Given the description of an element on the screen output the (x, y) to click on. 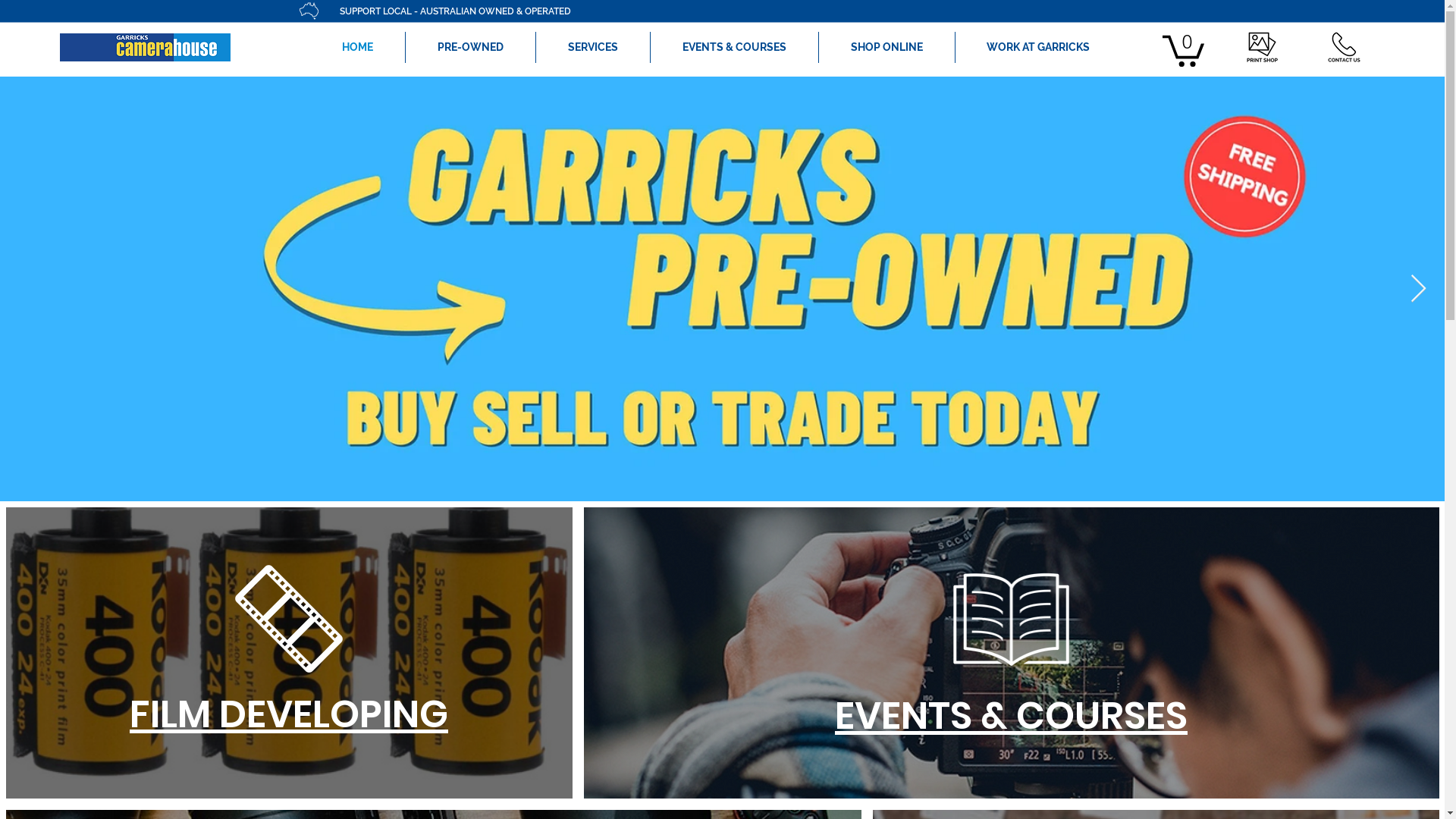
HOME Element type: text (357, 46)
0 Element type: text (1183, 48)
EVENTS & COURSES Element type: text (734, 46)
WORK AT GARRICKS Element type: text (1038, 46)
FILM DEVELOPING Element type: text (288, 713)
